Given the description of an element on the screen output the (x, y) to click on. 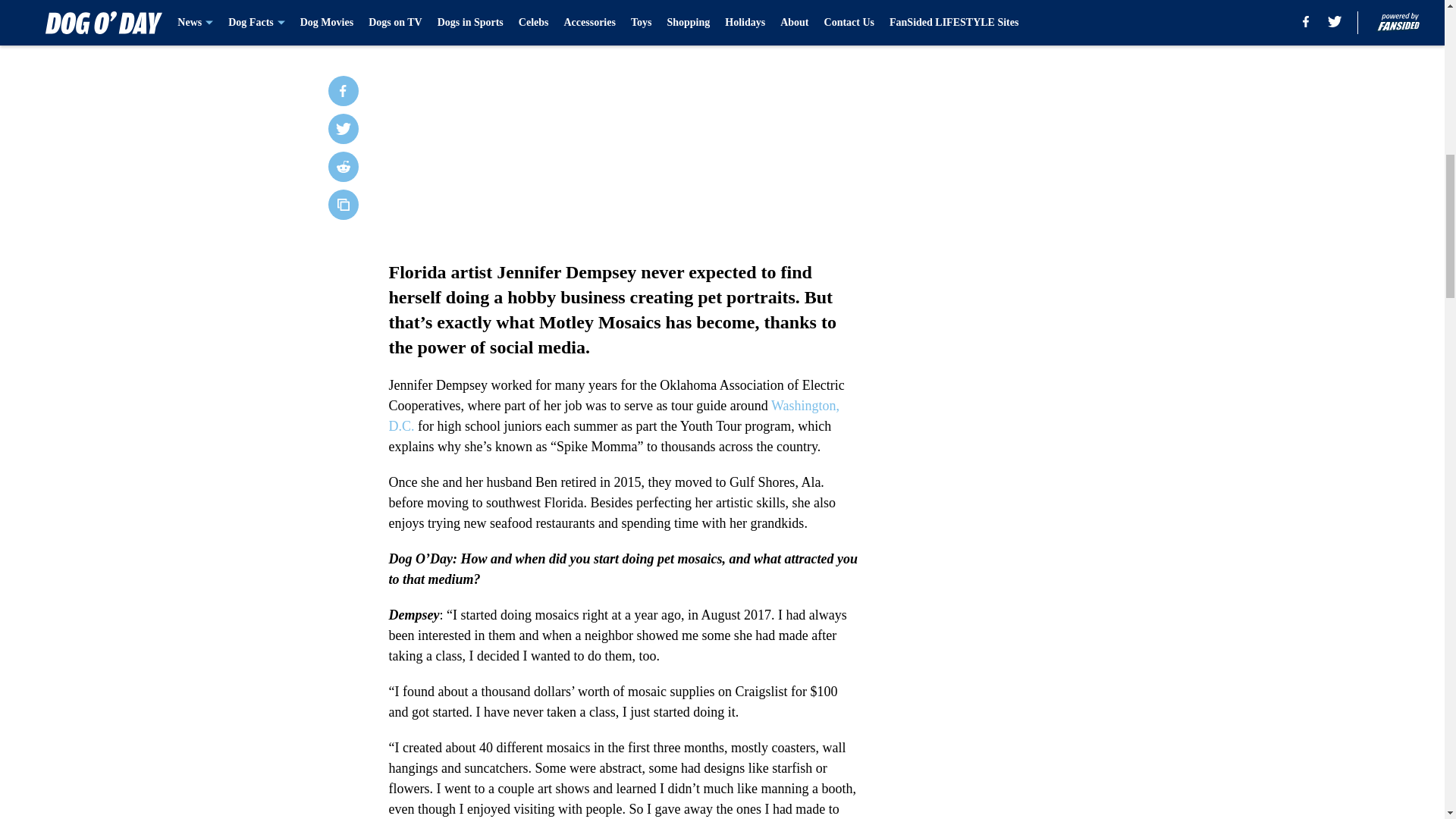
Washington, D.C. (614, 416)
